Given the description of an element on the screen output the (x, y) to click on. 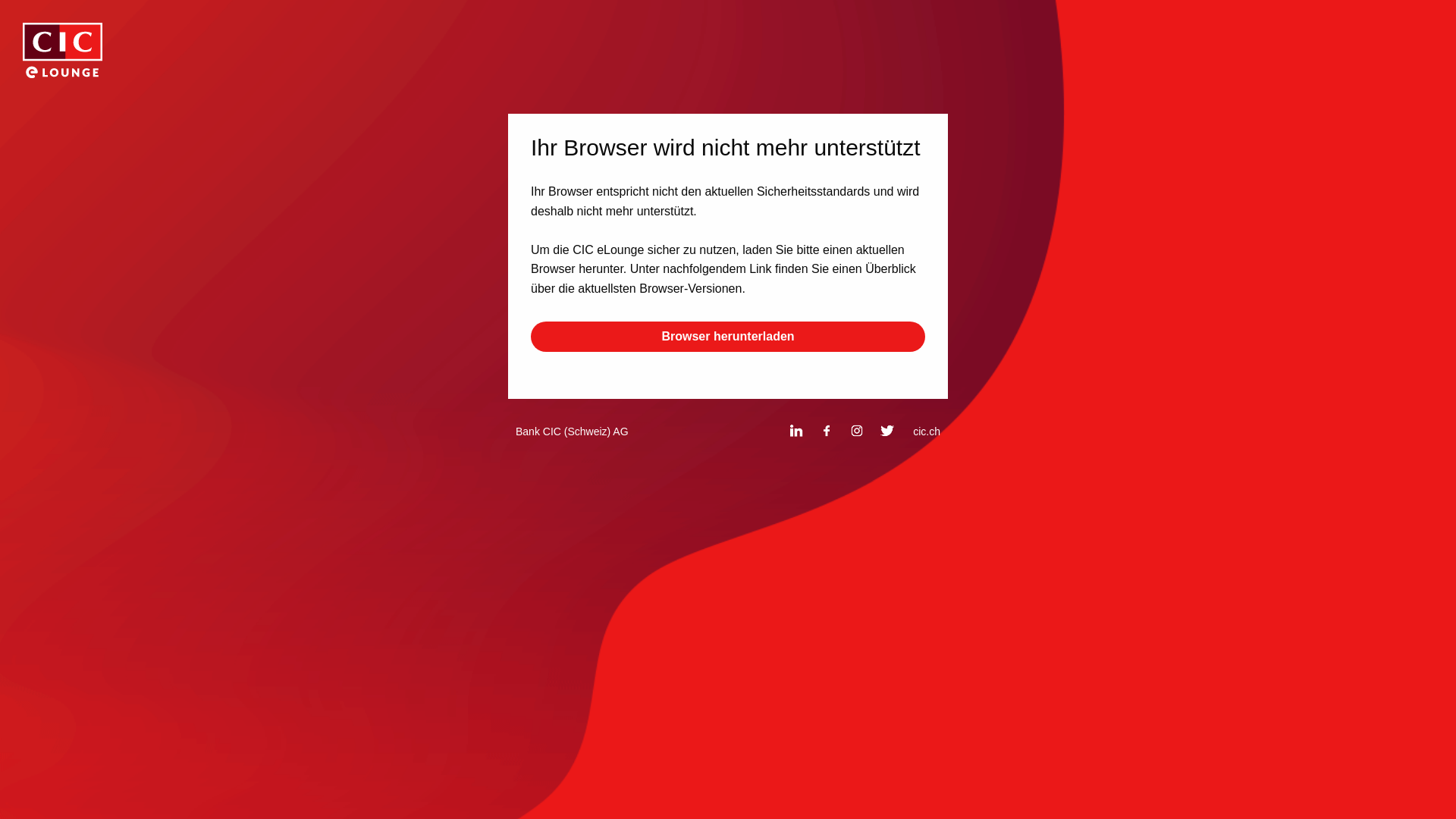
Browser herunterladen Element type: text (727, 336)
Twitter: @Bank_CIC Element type: hover (894, 430)
cic.ch Element type: text (926, 431)
Facebook: @BankCICSchweiz Element type: hover (826, 430)
LinkedIn Element type: hover (795, 430)
Instagram: @bank.cic.ch Element type: hover (856, 430)
Twitter: @Bank_CIC Element type: hover (886, 430)
LinkedIn Element type: hover (803, 430)
Facebook: @BankCICSchweiz Element type: hover (834, 430)
Instagram: @bank.cic.ch Element type: hover (864, 430)
